Given the description of an element on the screen output the (x, y) to click on. 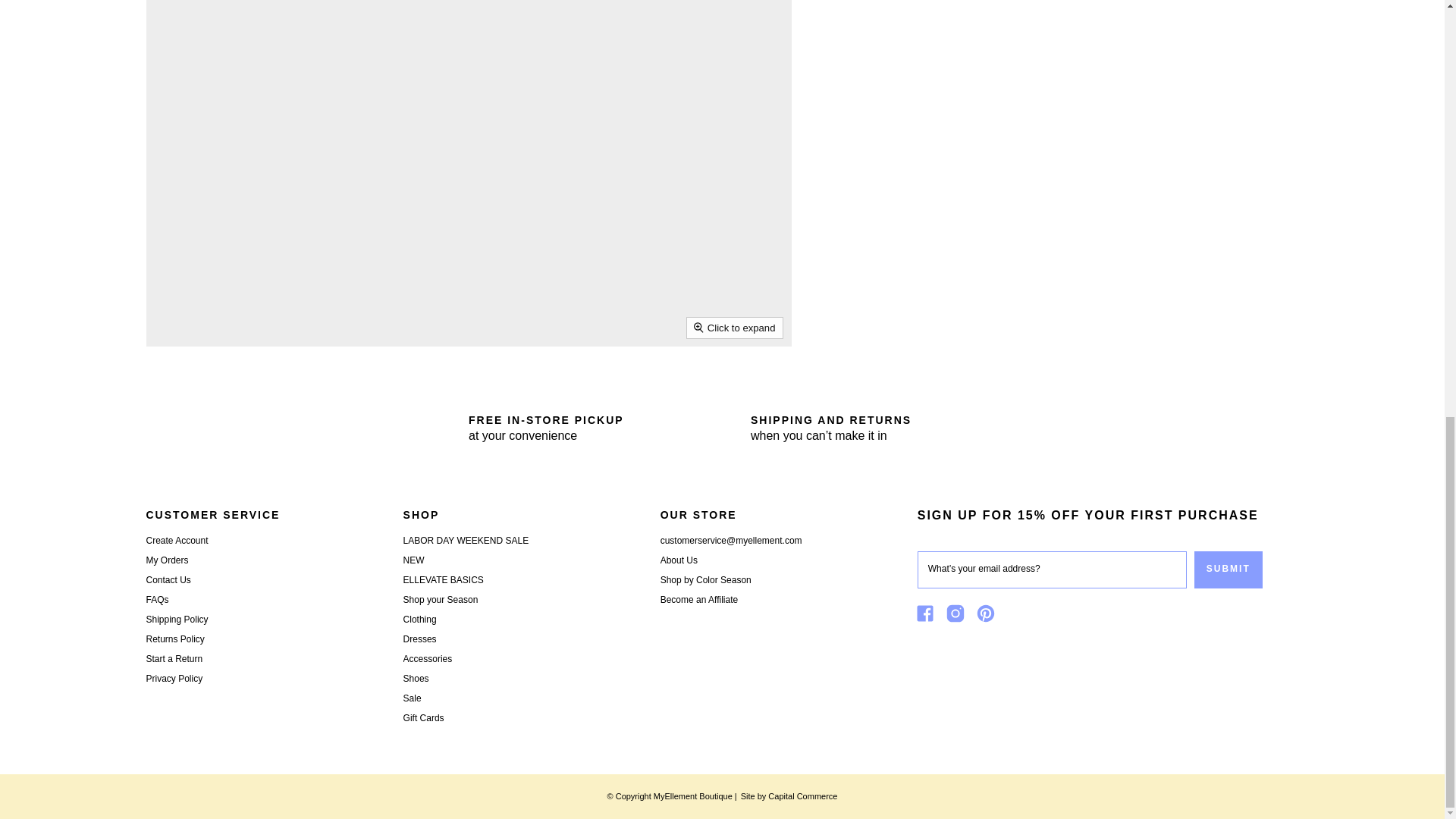
Facebook (928, 615)
Instagram (958, 615)
Pinterest (989, 615)
